Given the description of an element on the screen output the (x, y) to click on. 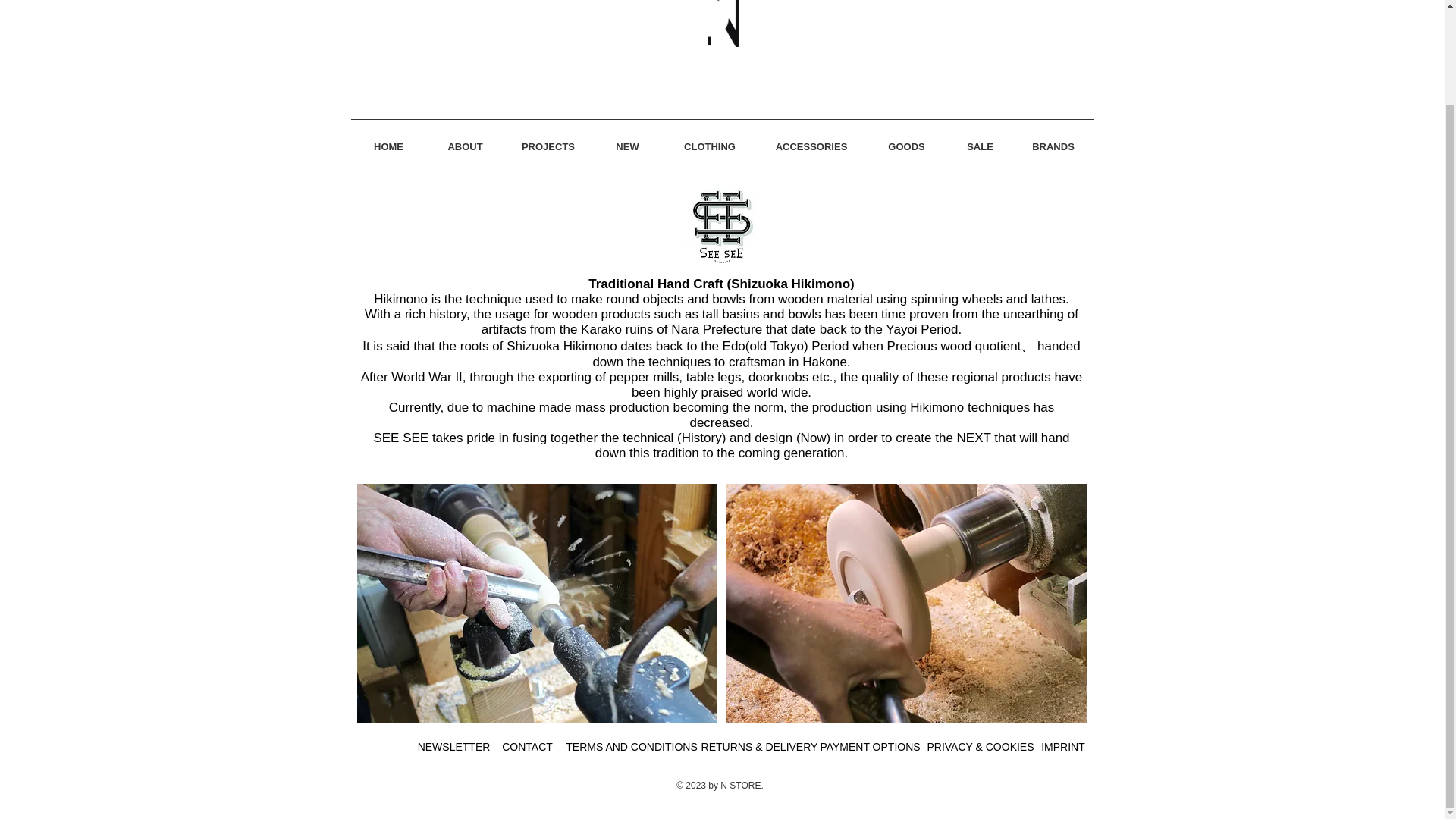
ABOUT (464, 139)
CONTACT (526, 747)
HOME (388, 139)
PAYMENT OPTIONS (868, 747)
TERMS AND CONDITIONS (631, 747)
GOODS (906, 139)
BRANDS (1053, 139)
SALE (980, 139)
PROJECTS (547, 139)
IMPRINT (1062, 747)
CLOTHING (709, 139)
NEWSLETTER (454, 747)
NEW (627, 139)
ACCESSORIES (810, 139)
